Given the description of an element on the screen output the (x, y) to click on. 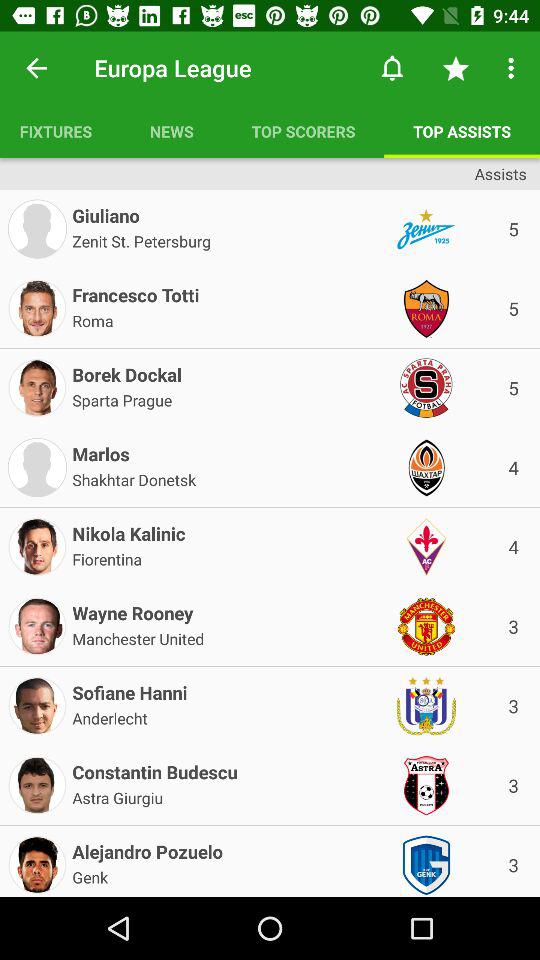
click the item above roma (135, 291)
